Given the description of an element on the screen output the (x, y) to click on. 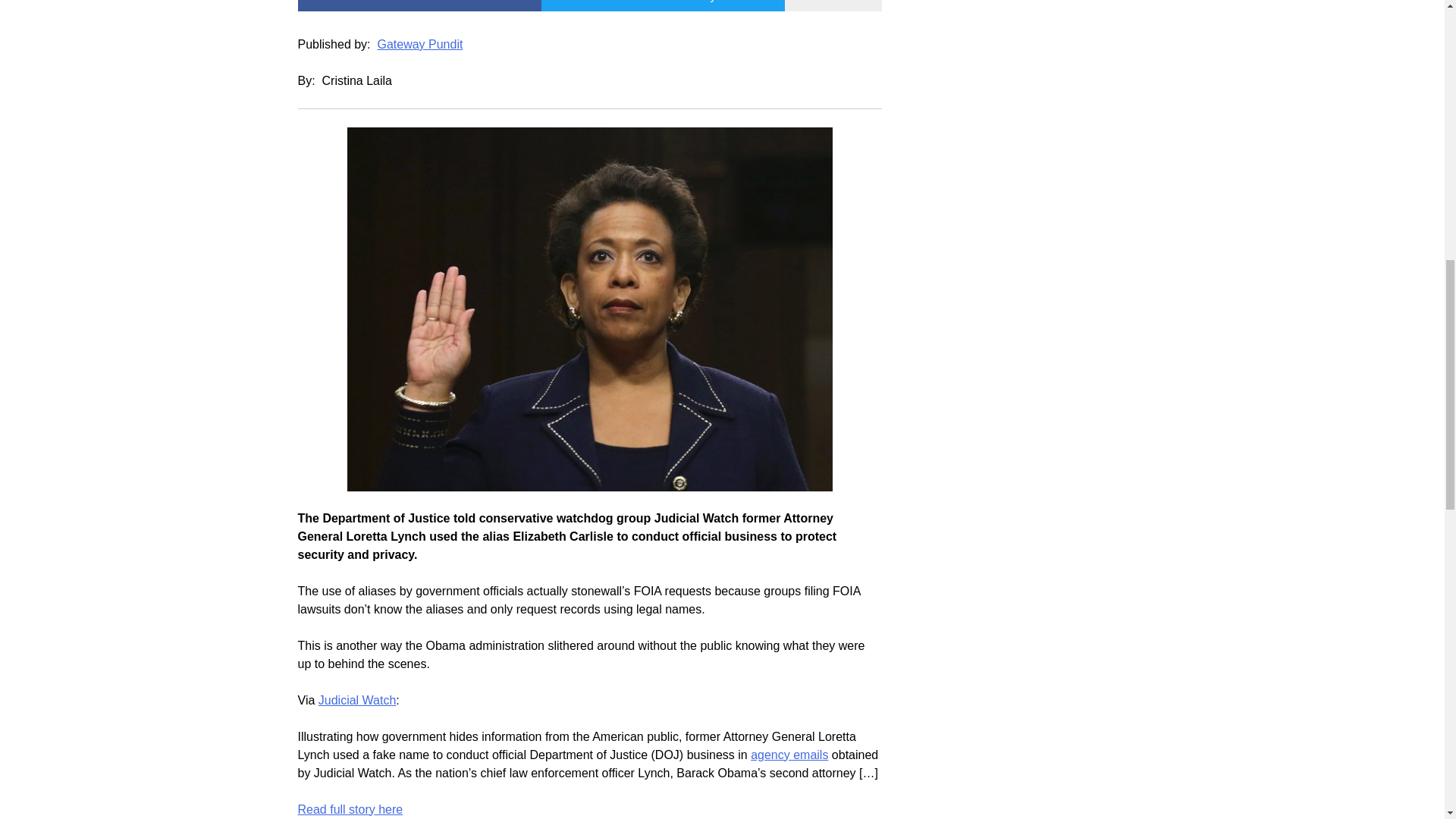
Tweet This Story (662, 5)
Judicial Watch (357, 699)
agency emails (789, 754)
Read full story here (350, 809)
Share on Facebook (418, 5)
Gateway Pundit (420, 43)
